Given the description of an element on the screen output the (x, y) to click on. 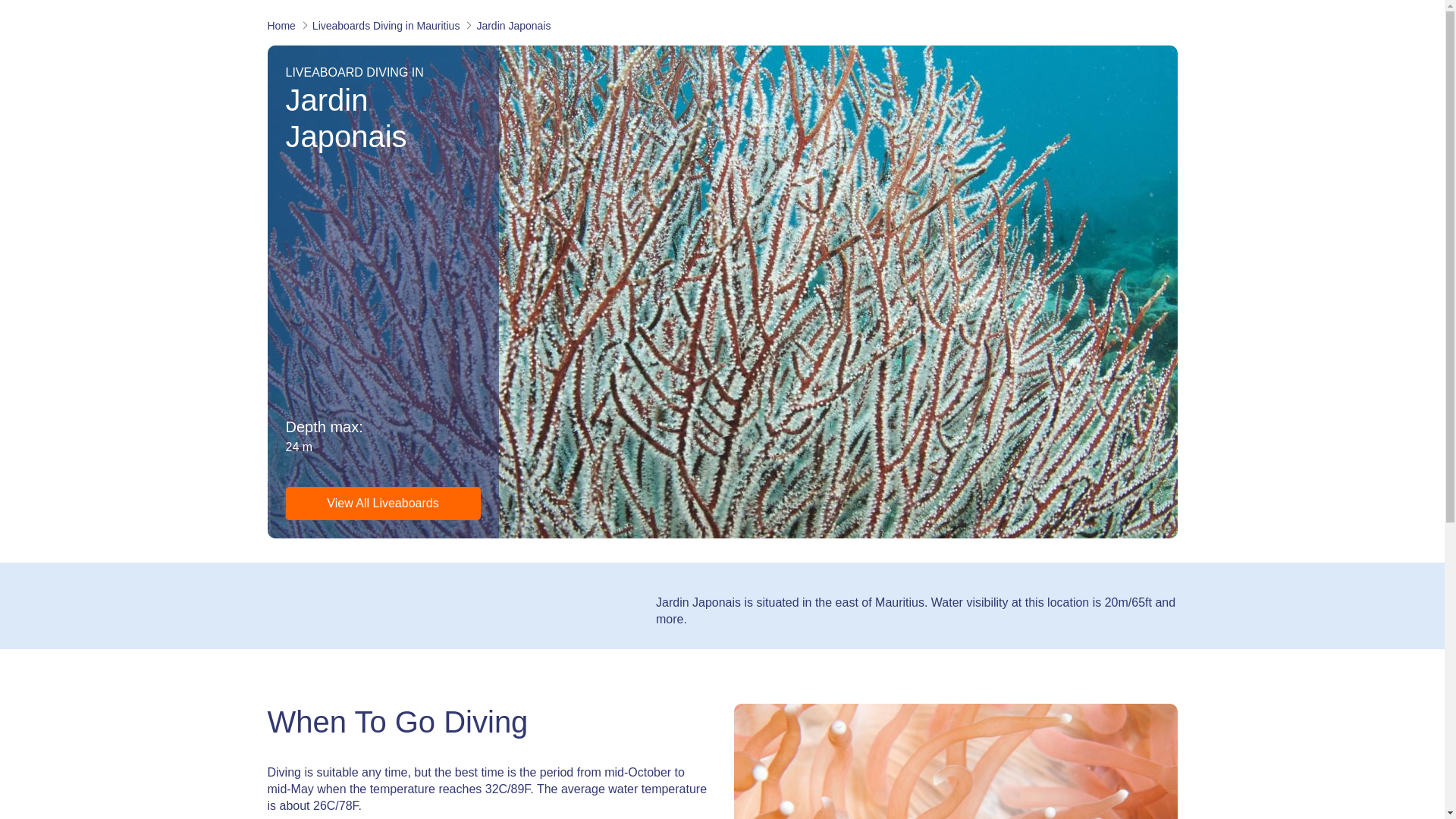
Home (282, 25)
View All Liveaboards (382, 503)
Liveaboards Diving in Mauritius (386, 25)
